Given the description of an element on the screen output the (x, y) to click on. 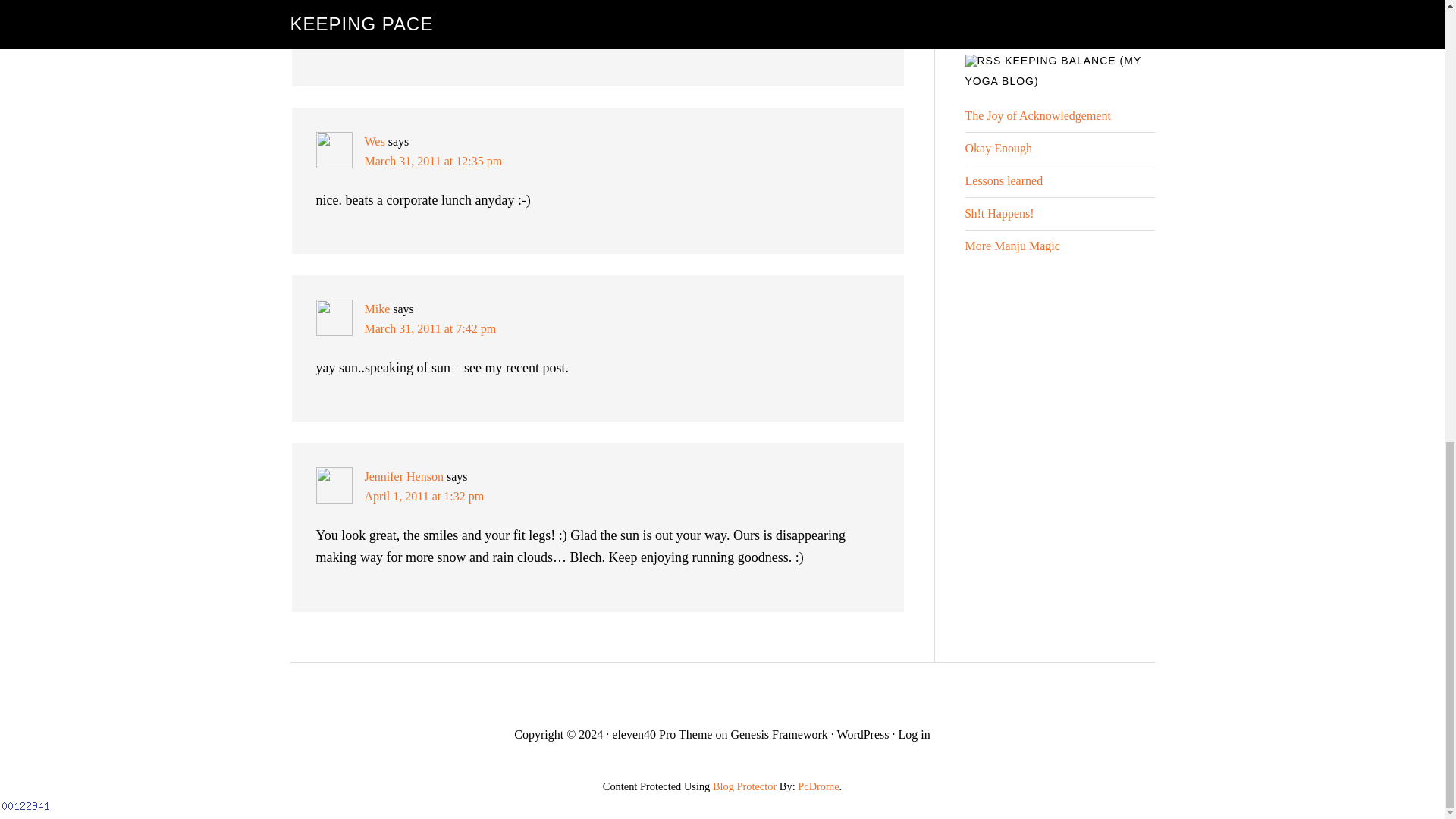
Mike (377, 308)
Jennifer Henson (403, 476)
March 31, 2011 at 12:35 pm (433, 160)
March 31, 2011 at 7:42 pm (430, 328)
April 1, 2011 at 1:32 pm (423, 495)
Wes (374, 141)
